Given the description of an element on the screen output the (x, y) to click on. 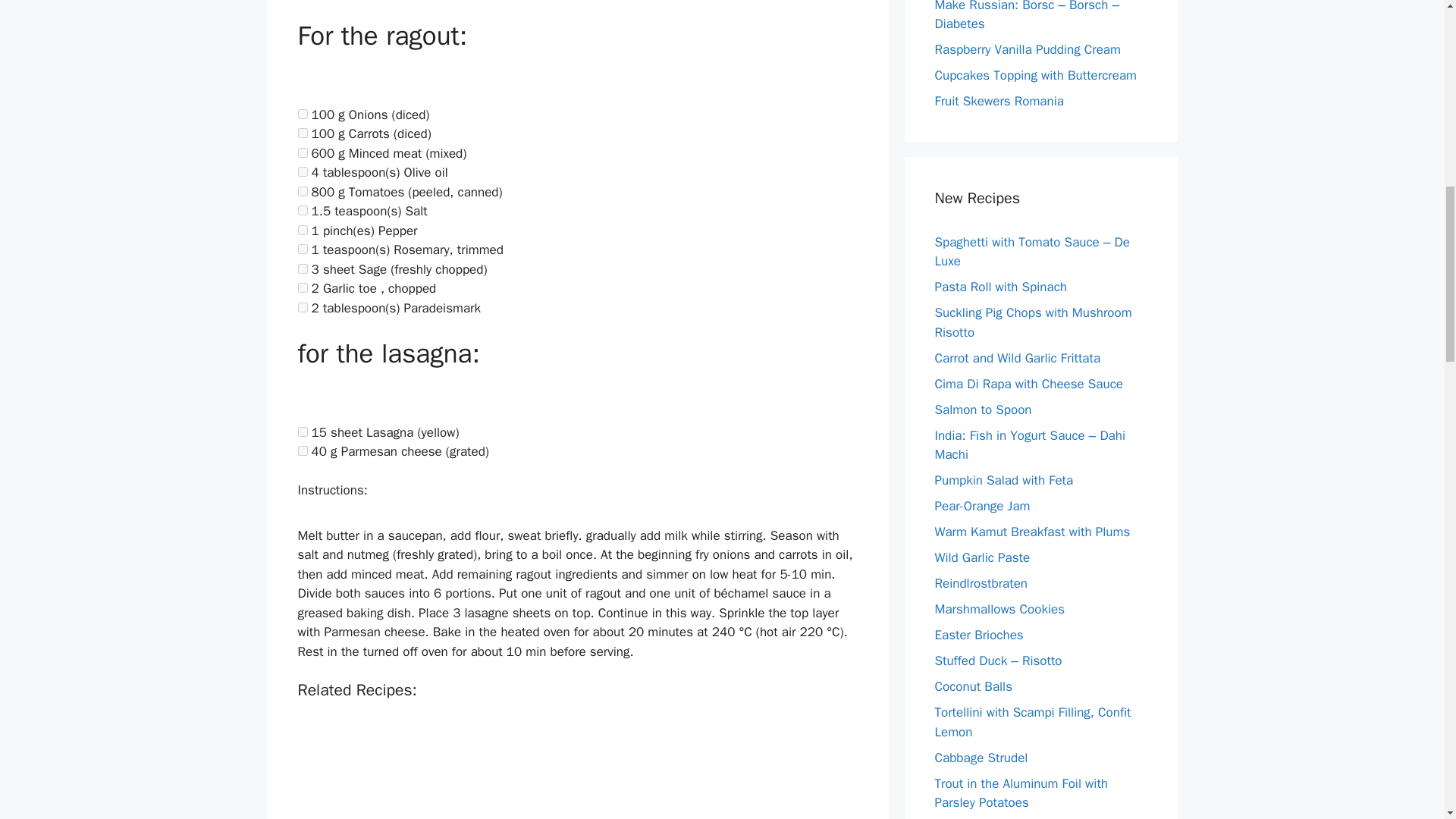
Raspberry Vanilla Pudding Cream (1026, 49)
Cupcakes Topping with Buttercream (1035, 75)
Lasagna Al Rico (673, 766)
Lasagna Alla Bolognese (414, 766)
2  Garlic toe , chopped (302, 287)
